Given the description of an element on the screen output the (x, y) to click on. 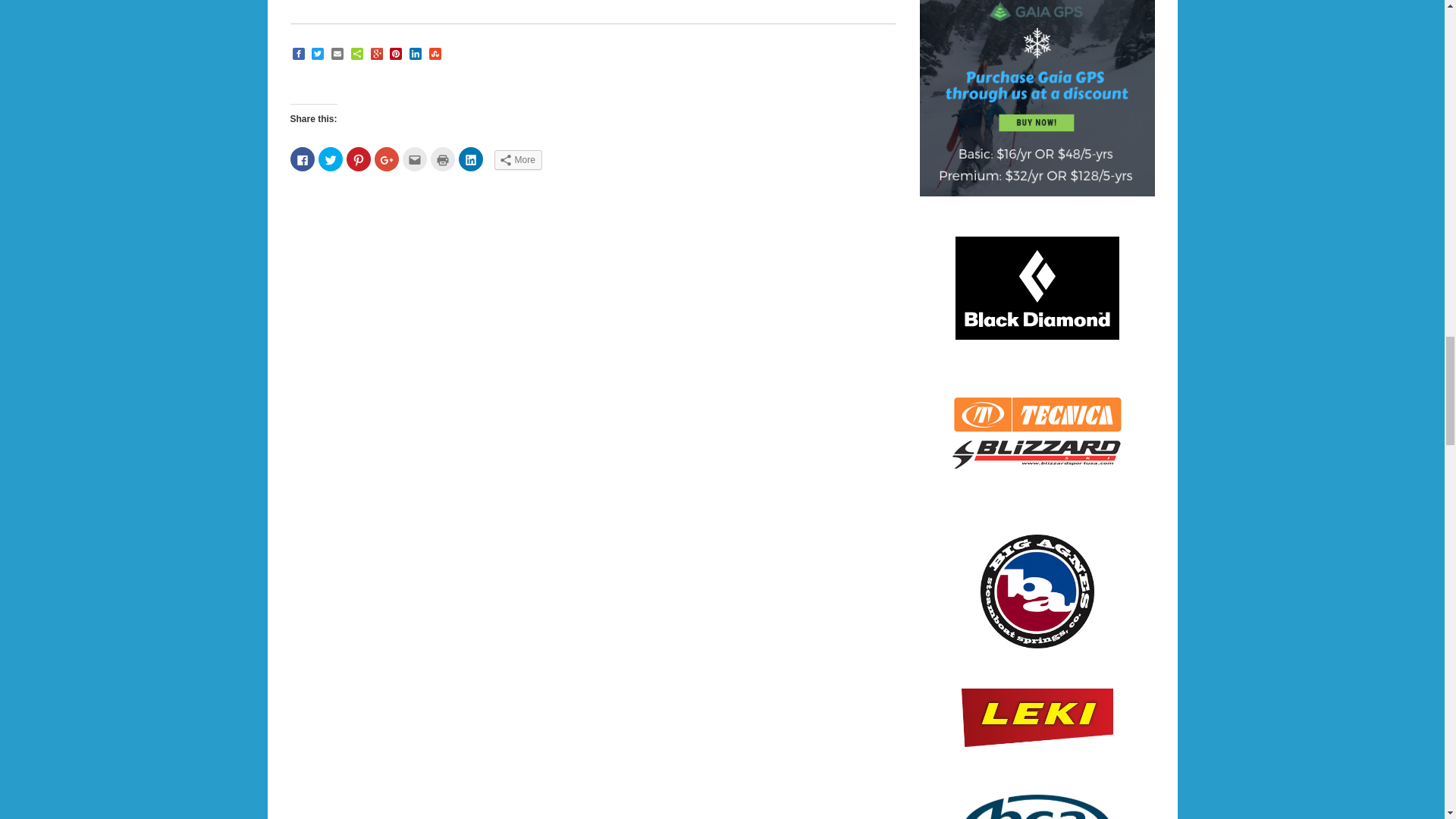
Click to print (442, 159)
Click to share on Twitter (330, 159)
Click to email this to a friend (413, 159)
Click to share on LinkedIn (469, 159)
Click to share on Pinterest (357, 159)
Click to share on Facebook (301, 159)
